Given the description of an element on the screen output the (x, y) to click on. 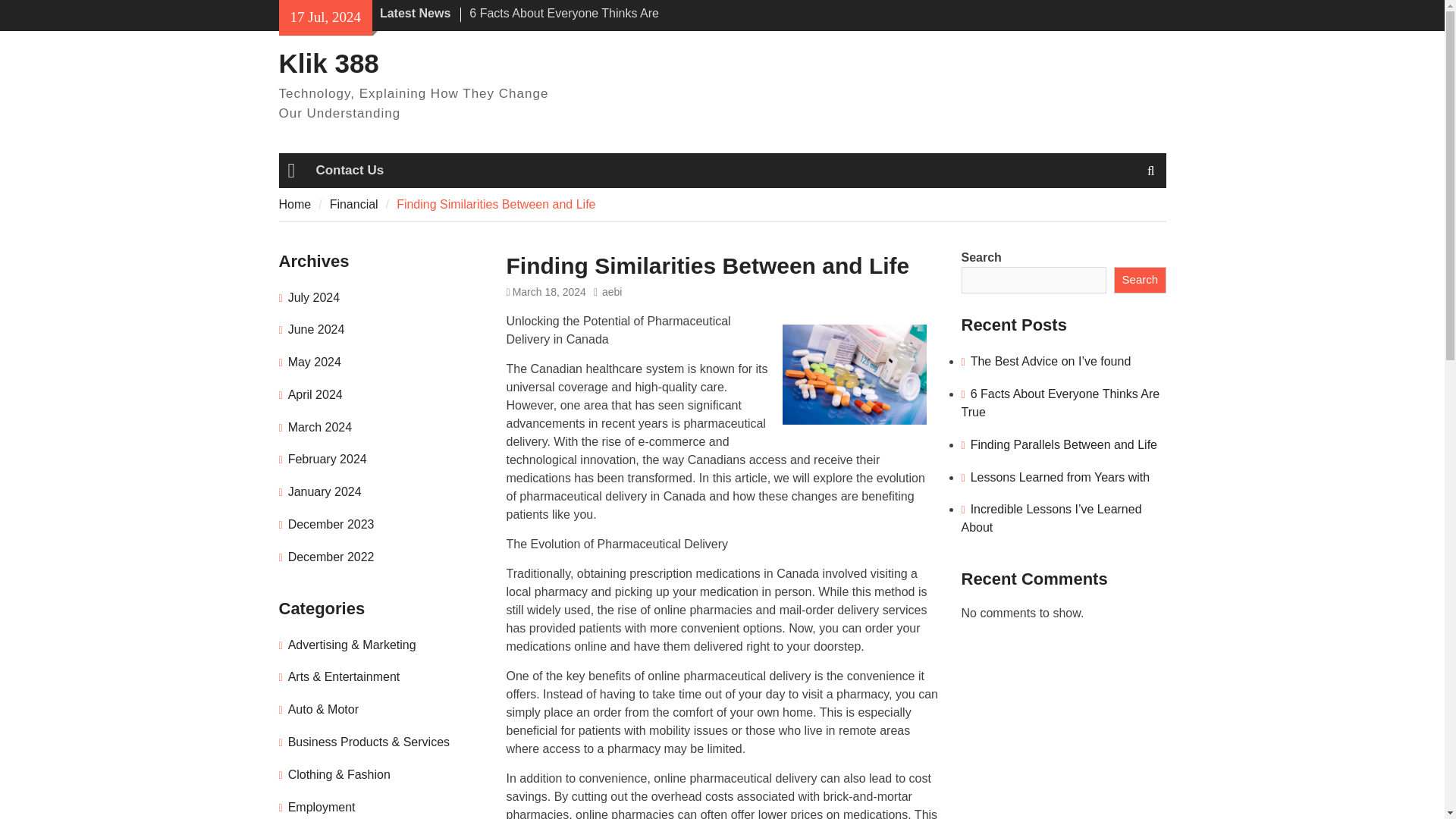
Employment (321, 807)
Financial (354, 203)
6 Facts About Everyone Thinks Are True (1060, 402)
Search (1139, 280)
aebi (611, 291)
July 2024 (314, 297)
Contact Us (349, 170)
6 Facts About Everyone Thinks Are True (563, 21)
Finding Parallels Between and Life (1064, 444)
Home (295, 203)
June 2024 (316, 328)
December 2022 (331, 556)
April 2024 (315, 394)
March 18, 2024 (549, 291)
Klik 388 (328, 62)
